Given the description of an element on the screen output the (x, y) to click on. 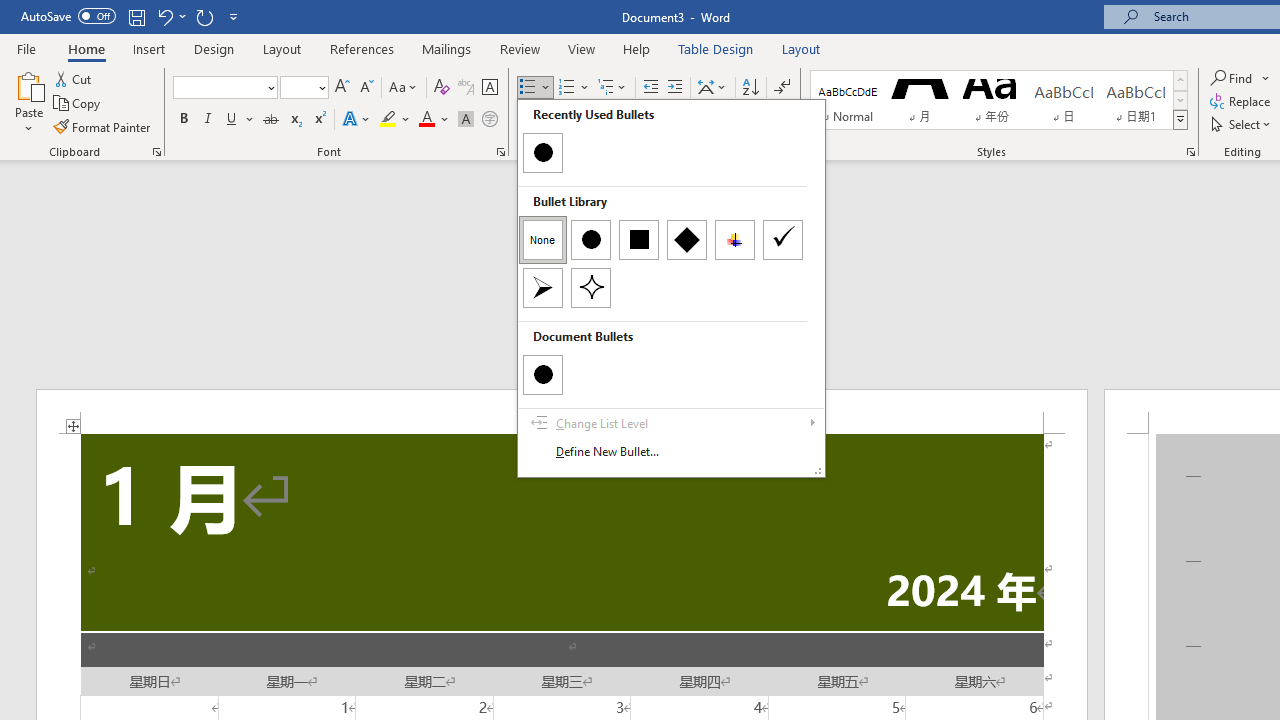
Character Shading (465, 119)
Styles (1179, 120)
Decrease Indent (650, 87)
